Given the description of an element on the screen output the (x, y) to click on. 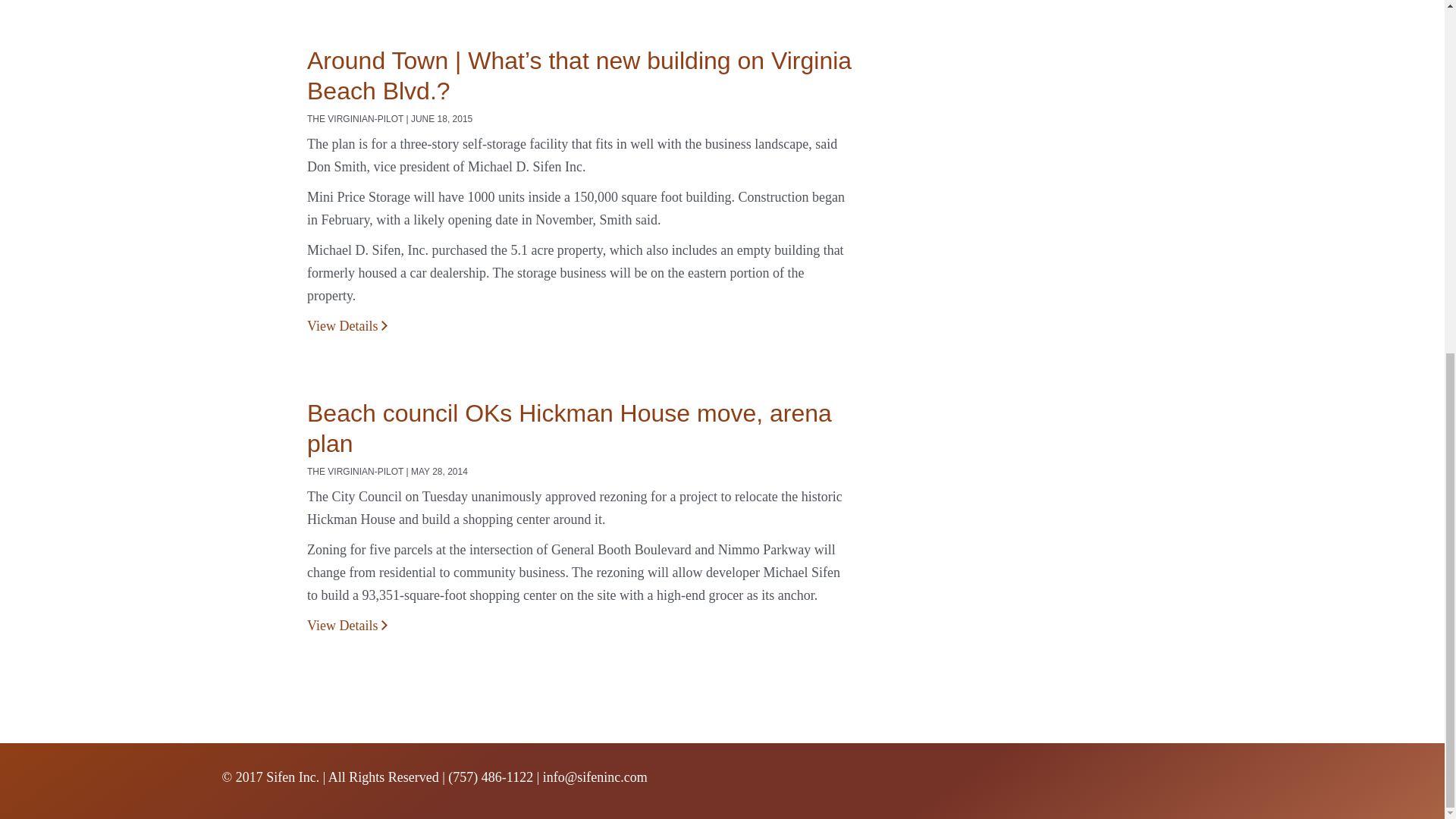
View Details (347, 325)
Beach council OKs Hickman House move, arena plan (569, 428)
View Details (347, 625)
